Given the description of an element on the screen output the (x, y) to click on. 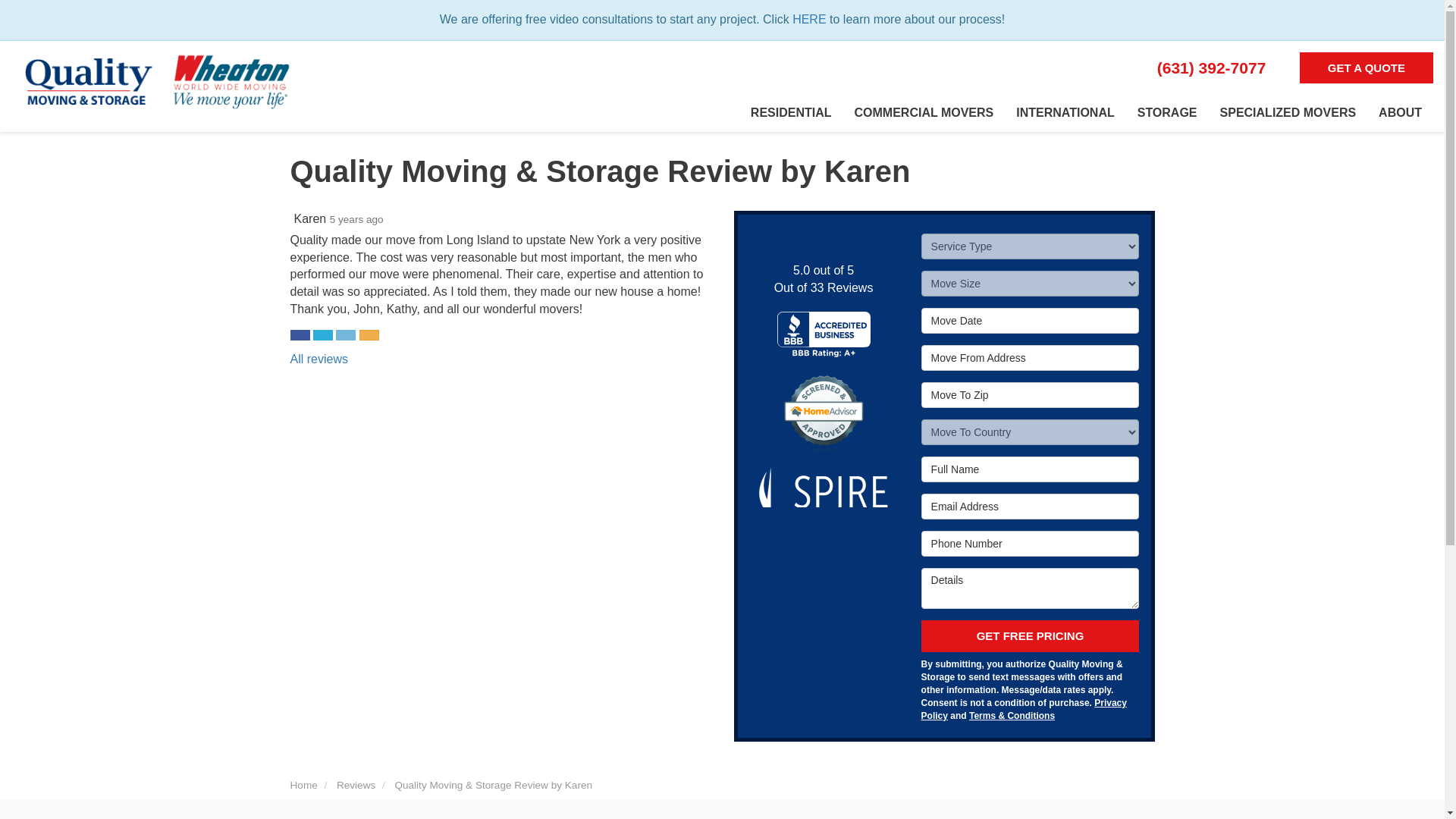
COMMERCIAL MOVERS (924, 112)
RESIDENTIAL (791, 112)
INTERNATIONAL (1064, 112)
SPECIALIZED MOVERS (1288, 112)
STORAGE (1166, 112)
GET A QUOTE (1366, 67)
GET A QUOTE (1366, 67)
HERE (808, 19)
